Given the description of an element on the screen output the (x, y) to click on. 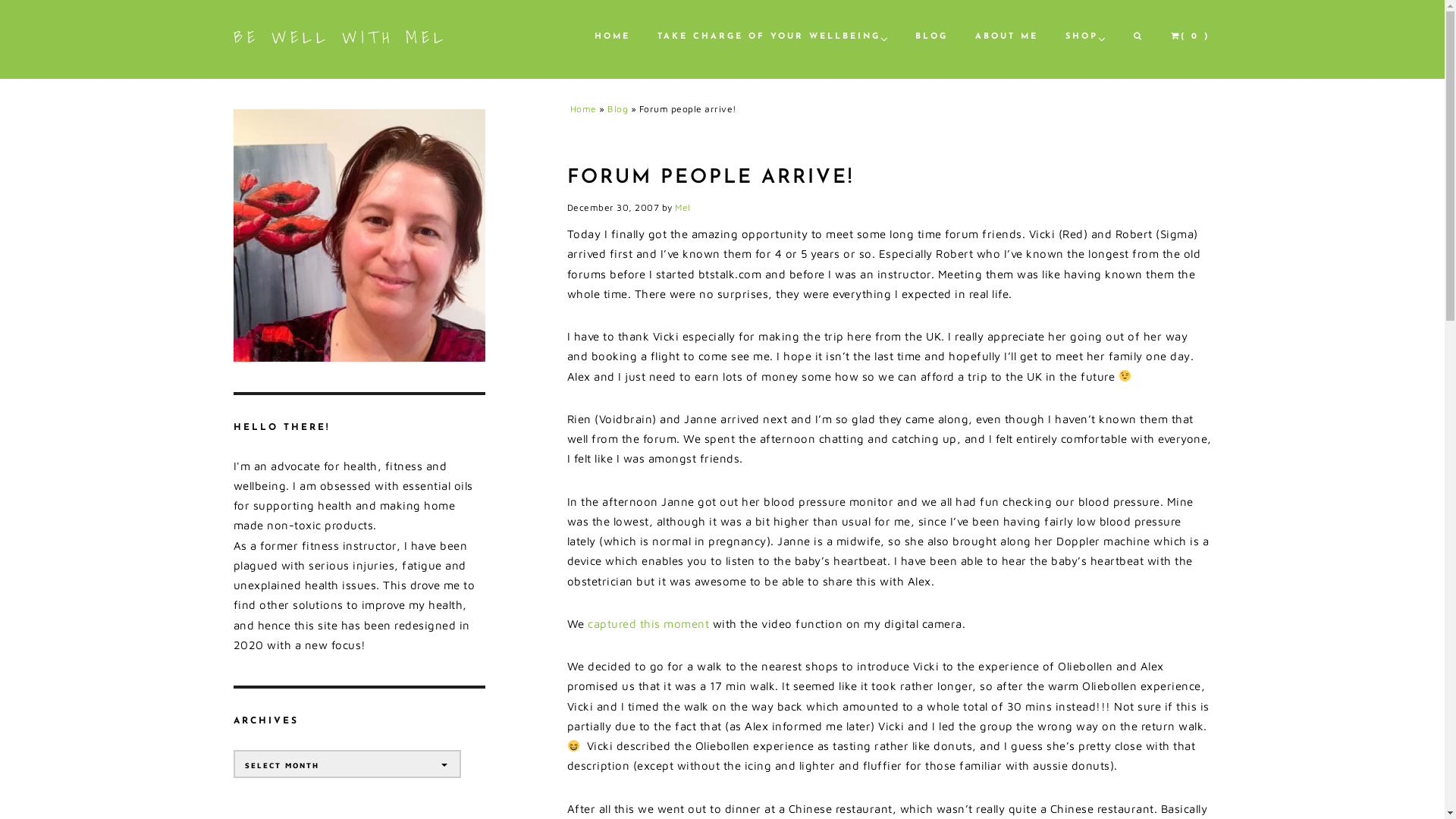
captured this moment Element type: text (648, 623)
ABOUT ME Element type: text (1006, 36)
Mel Element type: text (682, 207)
BE WELL WITH MEL Element type: text (340, 36)
HOME Element type: text (612, 36)
SELECT MONTH
  Element type: text (347, 763)
( 0 ) Element type: text (1189, 36)
TAKE CHARGE OF YOUR WELLBEING Element type: text (767, 36)
Home Element type: text (583, 108)
SHOP Element type: text (1081, 36)
Blog Element type: text (617, 108)
BLOG Element type: text (931, 36)
